Given the description of an element on the screen output the (x, y) to click on. 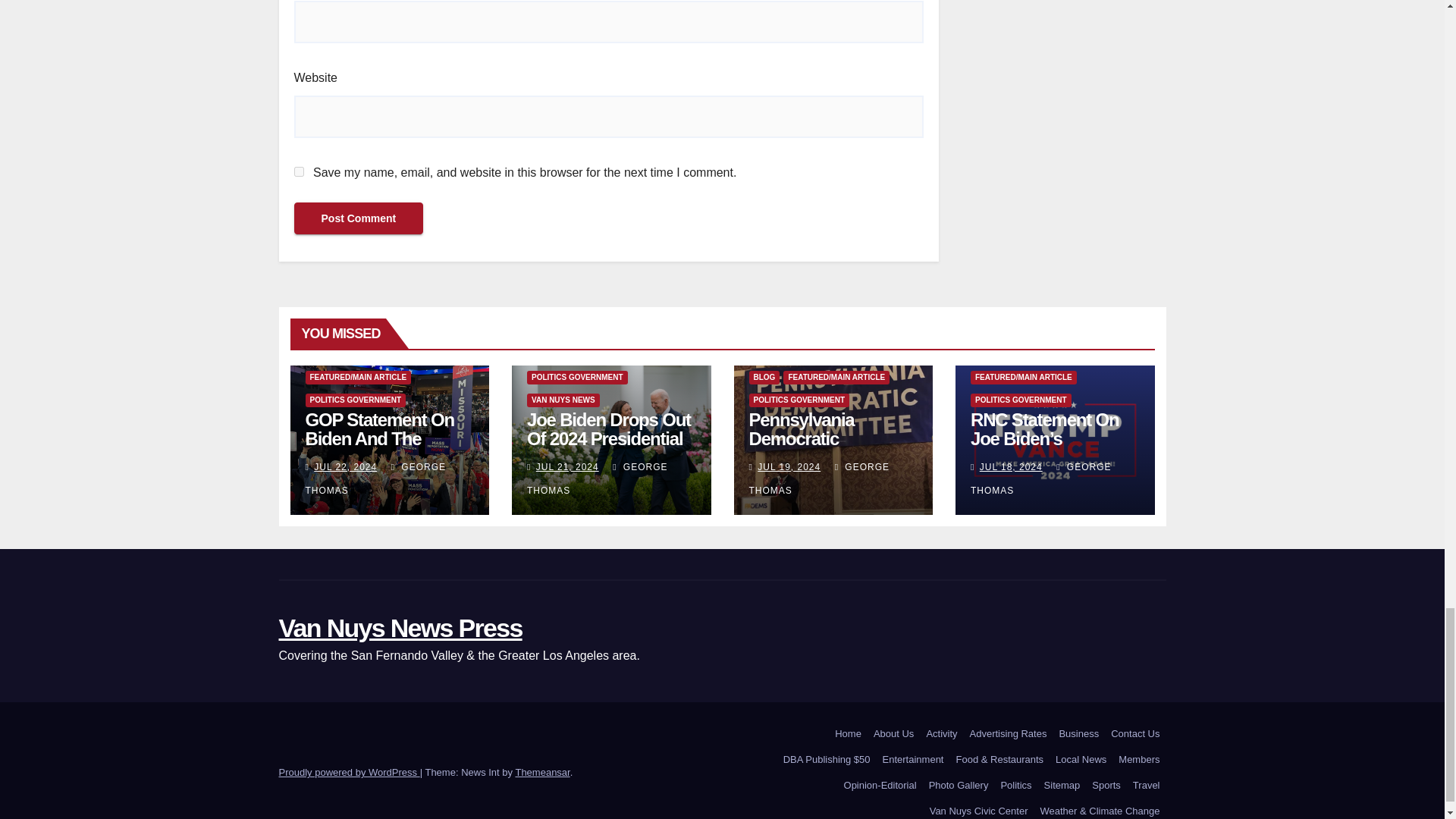
Post Comment (358, 218)
Home (847, 733)
yes (299, 171)
